Given the description of an element on the screen output the (x, y) to click on. 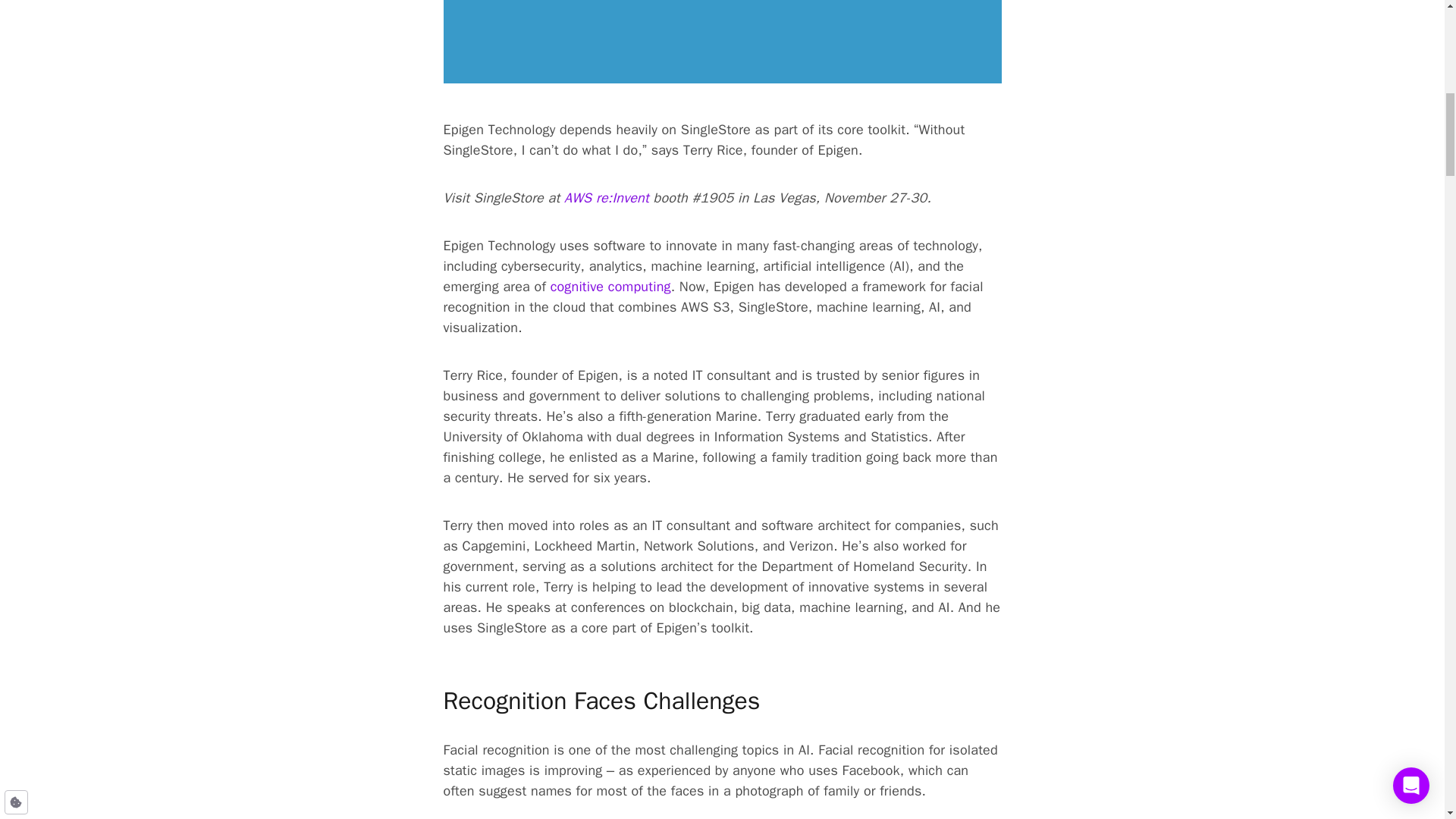
AWS re:Invent (606, 198)
cognitive computing (610, 287)
